Given the description of an element on the screen output the (x, y) to click on. 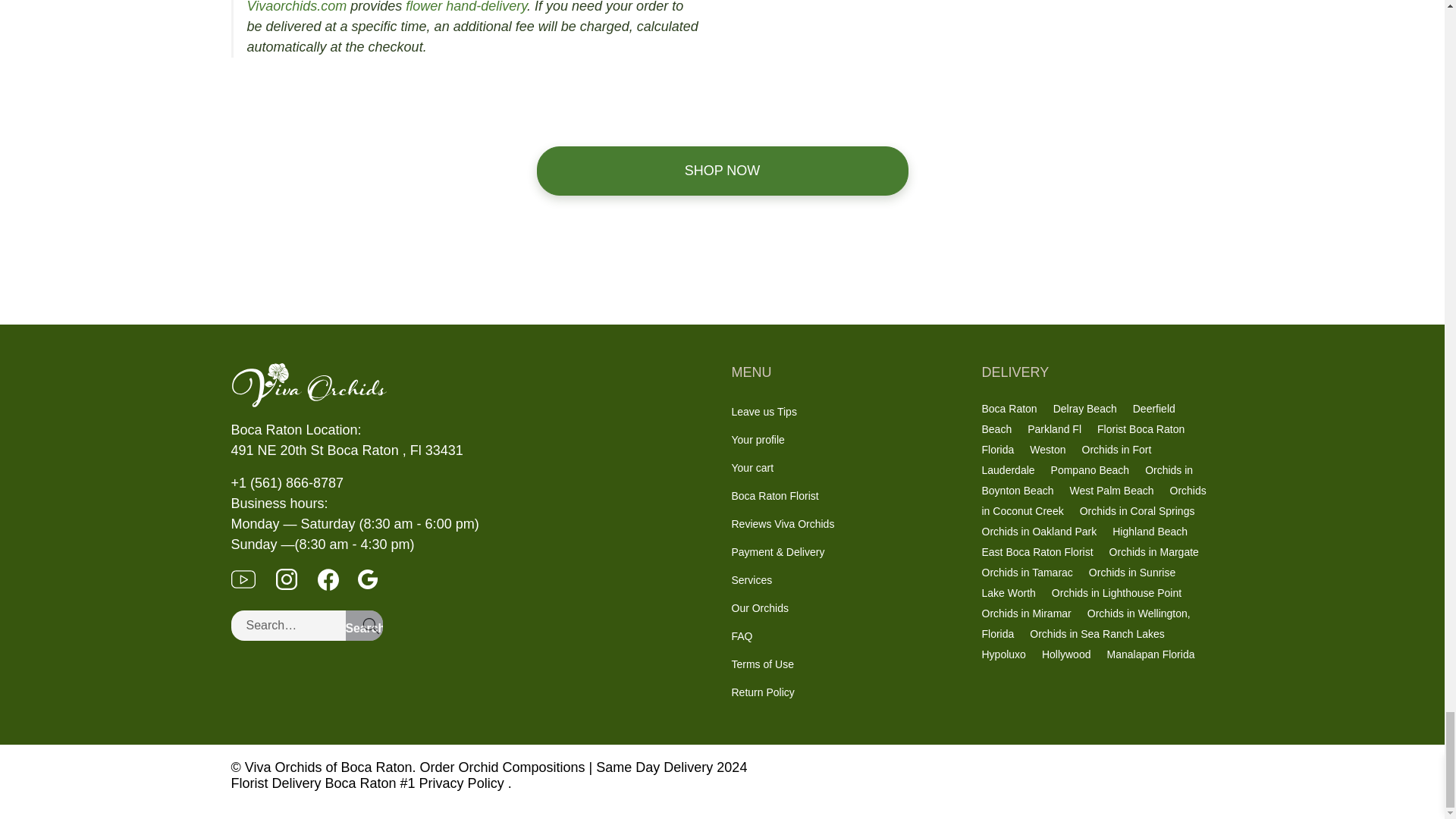
Viva Orchids of Boca Raton (471, 384)
youtube Viva Orchids Florida florist  (251, 578)
instagram (296, 578)
Viva Orchids of Boca Raton Florist (308, 384)
facebook  (337, 578)
google florist orchids of Boca (375, 578)
